Given the description of an element on the screen output the (x, y) to click on. 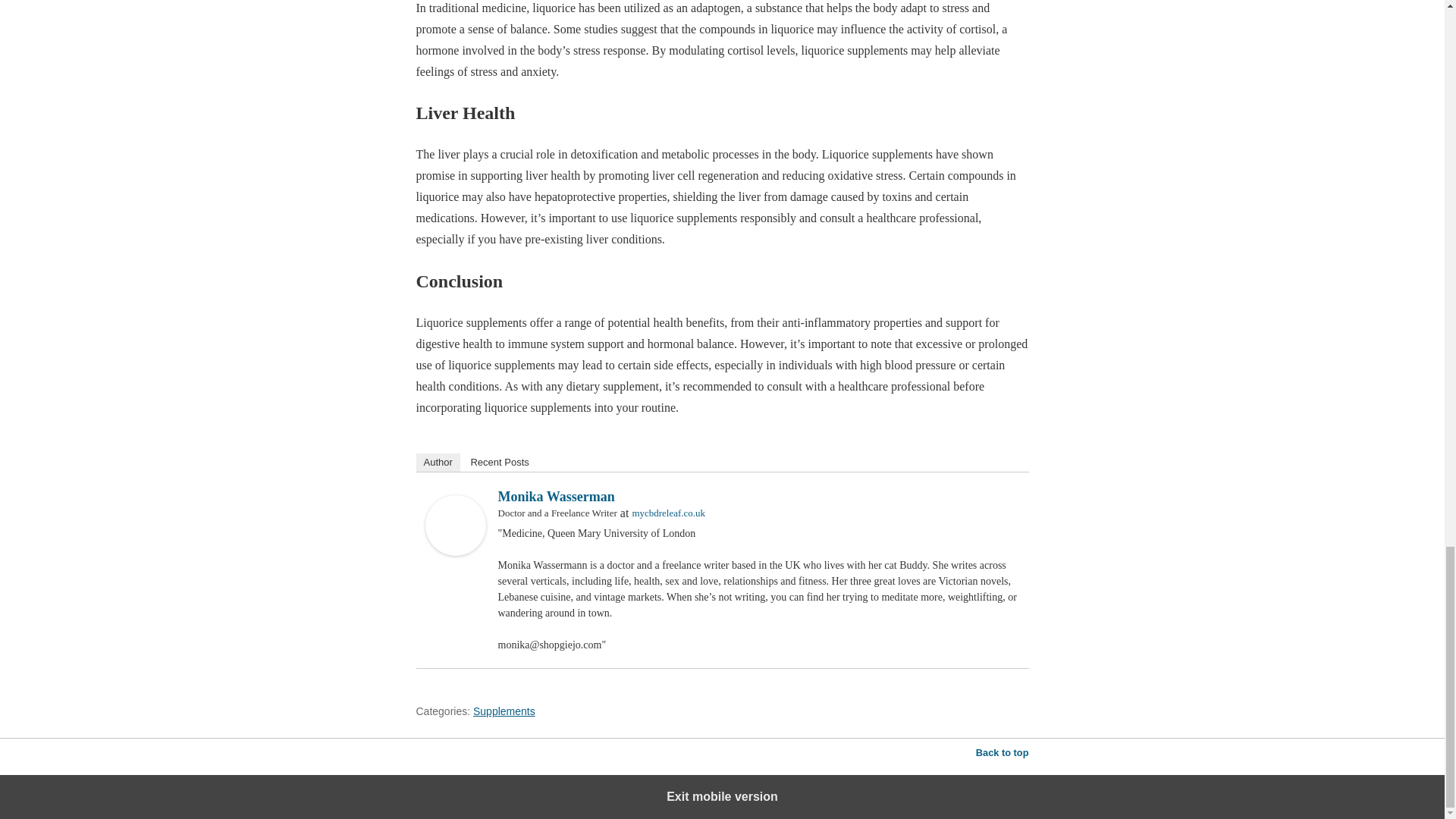
Author (437, 462)
Supplements (504, 711)
Back to top (1002, 752)
Recent Posts (499, 462)
Monika Wasserman (555, 496)
mycbdreleaf.co.uk (667, 512)
Monika Wasserman (454, 551)
